Given the description of an element on the screen output the (x, y) to click on. 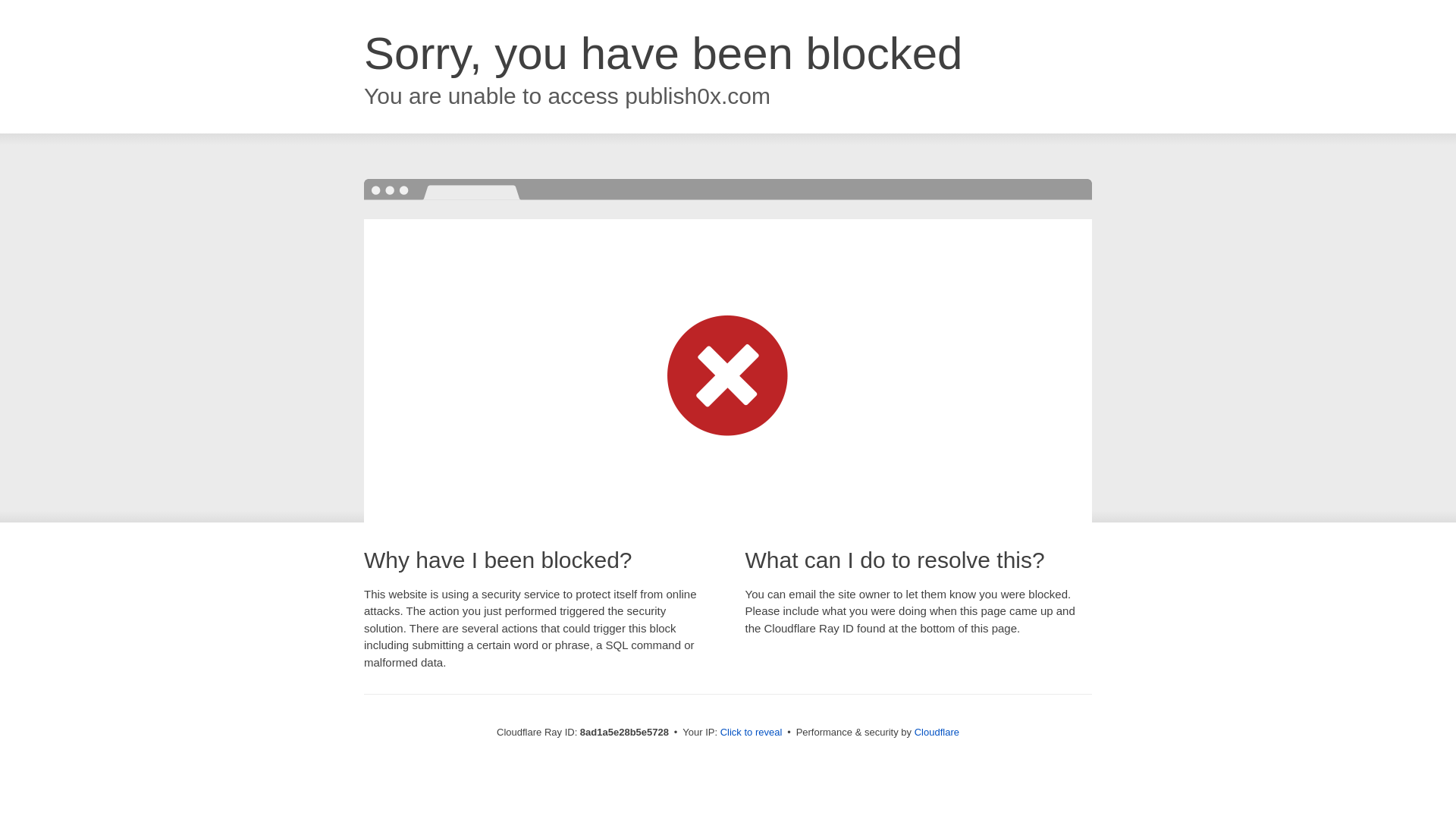
Cloudflare (936, 731)
Click to reveal (751, 732)
